Given the description of an element on the screen output the (x, y) to click on. 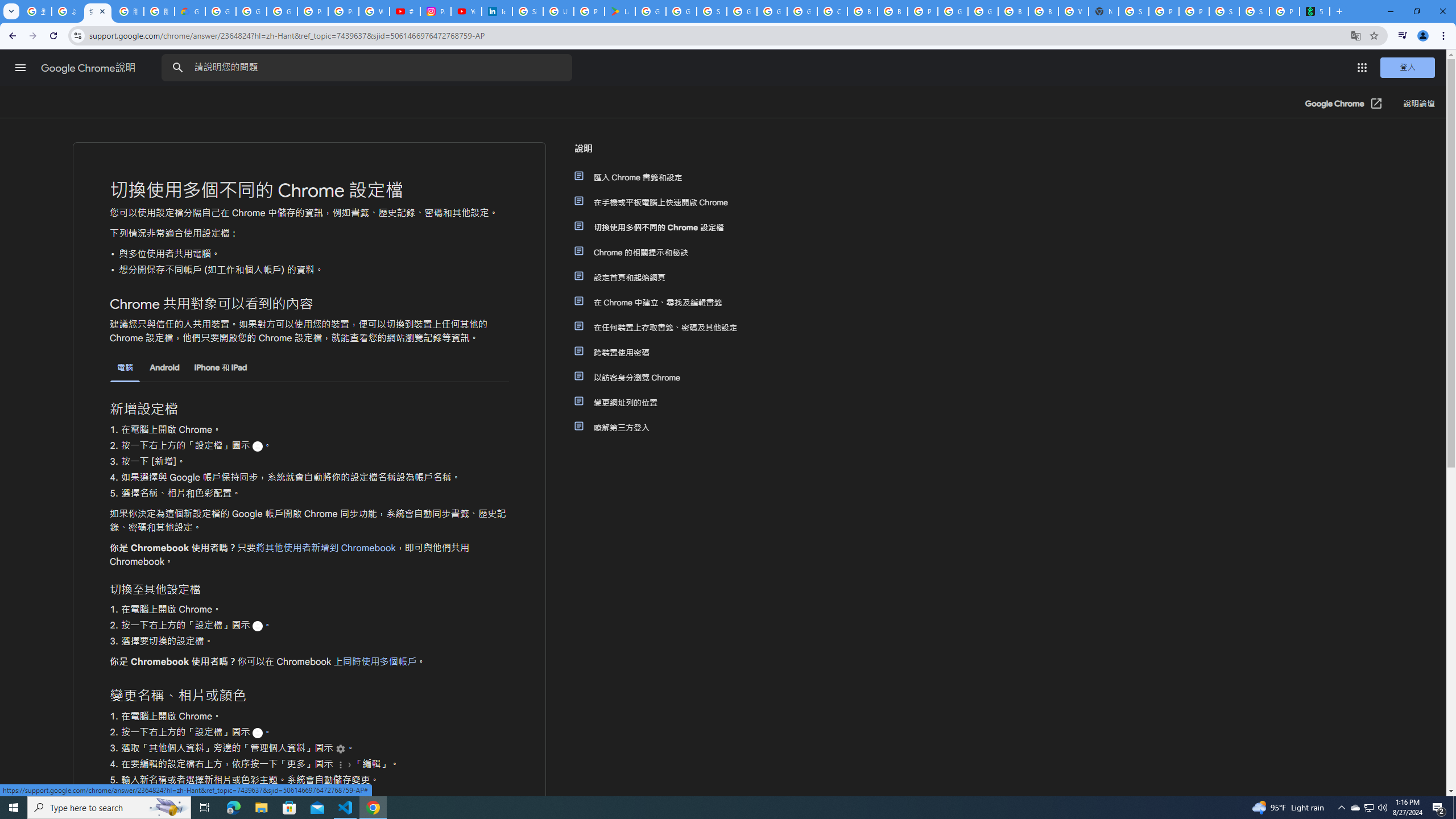
Google Workspace - Specific Terms (681, 11)
Browse Chrome as a guest - Computer - Google Chrome Help (1012, 11)
Sign in - Google Accounts (527, 11)
